Given the description of an element on the screen output the (x, y) to click on. 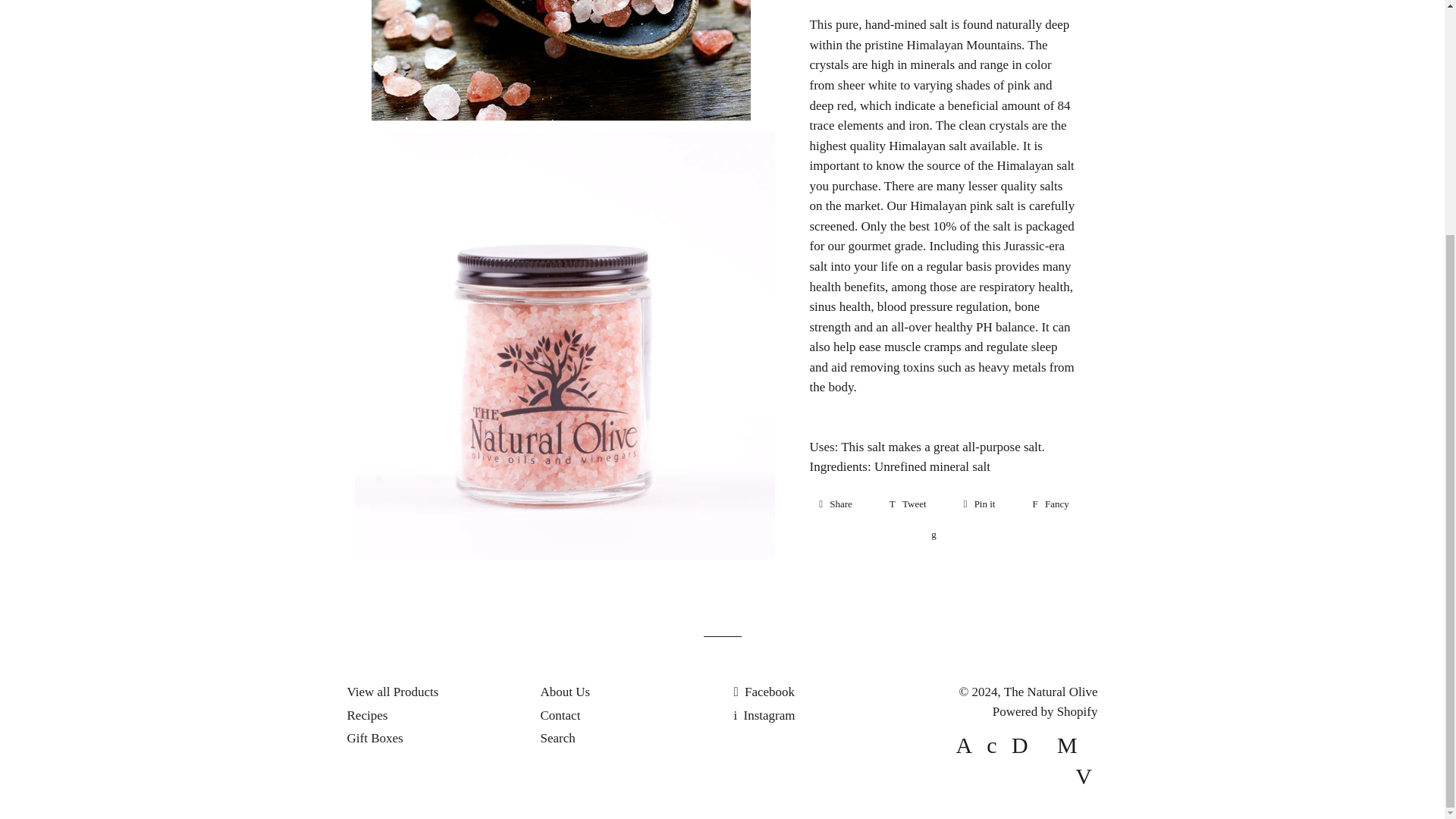
The Natural Olive  on Facebook (763, 691)
The Natural Olive  on Instagram (763, 715)
